Given the description of an element on the screen output the (x, y) to click on. 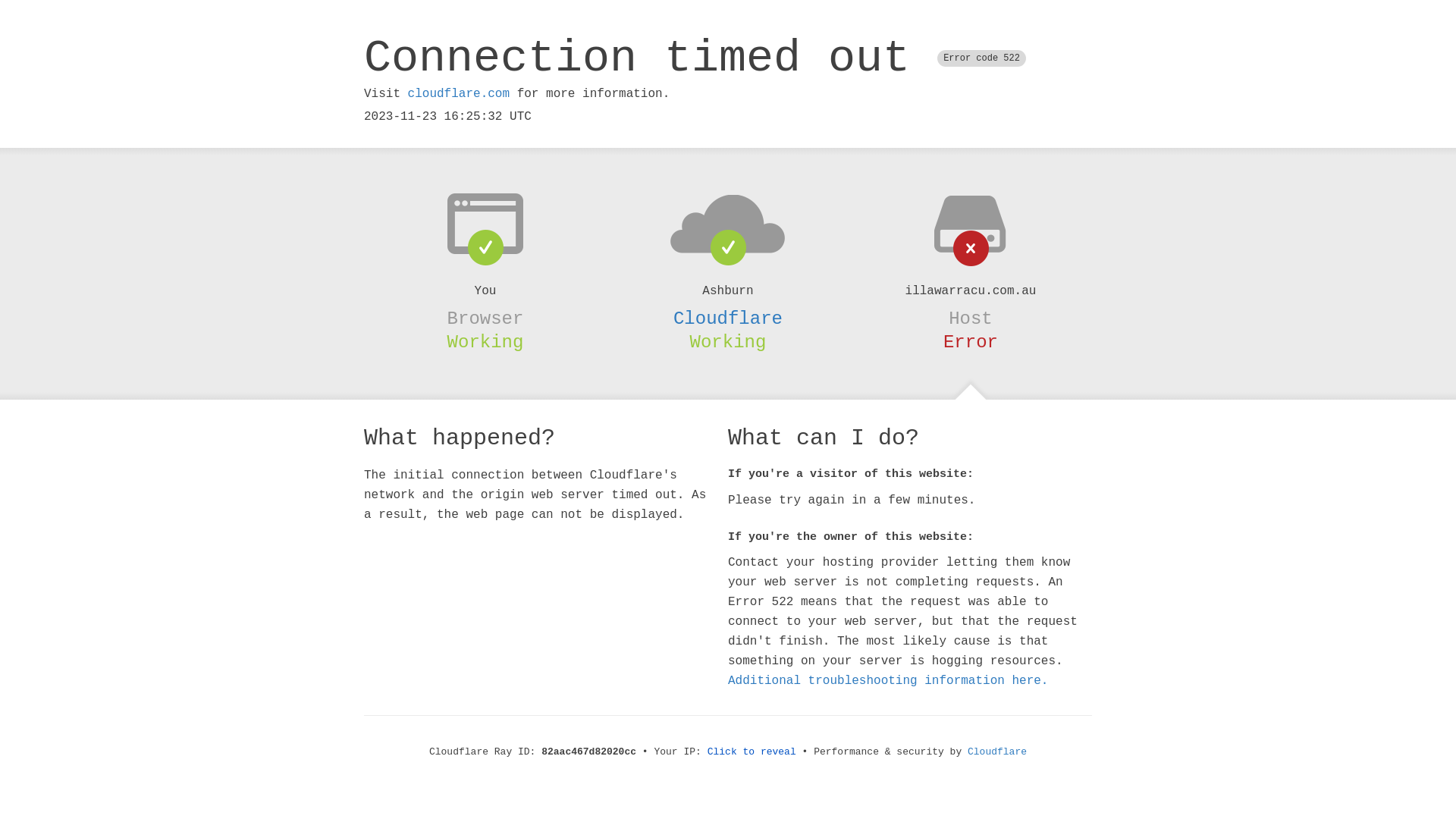
Additional troubleshooting information here. Element type: text (888, 680)
Click to reveal Element type: text (751, 751)
Cloudflare Element type: text (996, 751)
Cloudflare Element type: text (727, 318)
cloudflare.com Element type: text (458, 93)
